Given the description of an element on the screen output the (x, y) to click on. 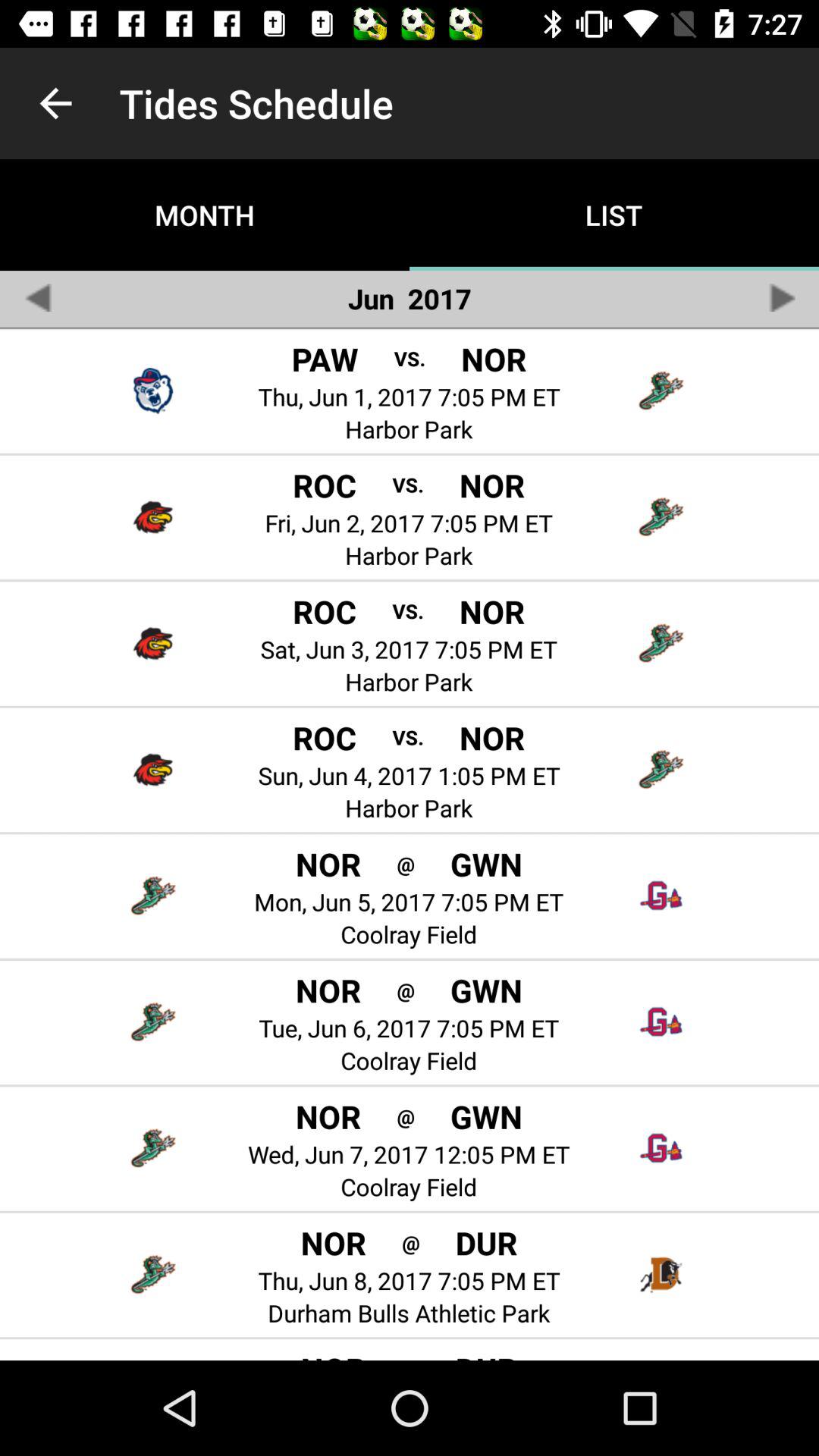
click the icon next to the gwn app (405, 1115)
